Given the description of an element on the screen output the (x, y) to click on. 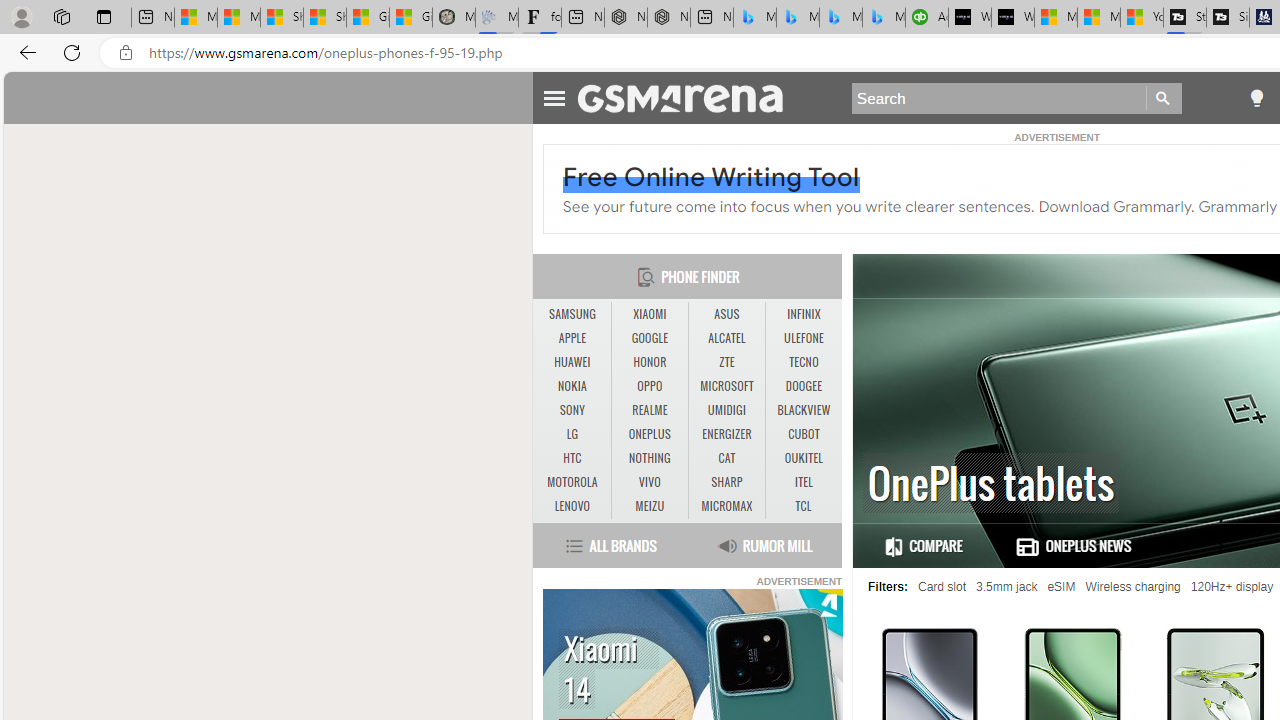
Wireless charging (1133, 587)
SHARP (726, 483)
ONEPLUS (649, 434)
AutomationID: anchor (689, 97)
HONOR (649, 362)
BLACKVIEW (803, 410)
ASUS (726, 313)
HTC (571, 458)
GOOGLE (649, 339)
ENERGIZER (726, 434)
ITEL (803, 483)
